Given the description of an element on the screen output the (x, y) to click on. 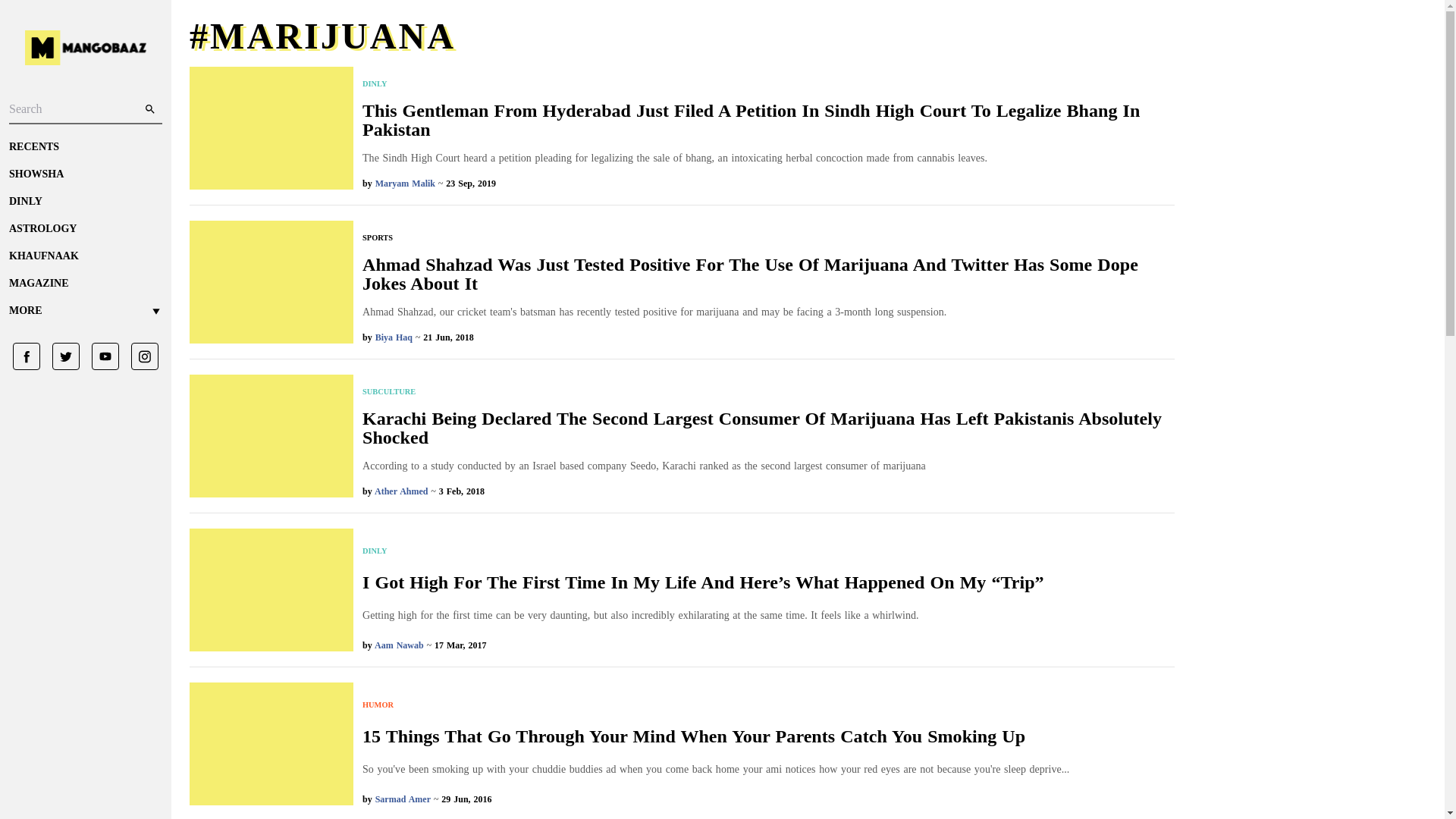
SHOWSHA (84, 174)
Biya Haq (393, 337)
Link to Twitter (60, 356)
MORE (84, 310)
Link to Facebook (26, 356)
DINLY (768, 83)
DINLY (84, 201)
Link to Instagram (138, 356)
RECENTS (84, 146)
MangoBaaz Magazine (84, 283)
